Given the description of an element on the screen output the (x, y) to click on. 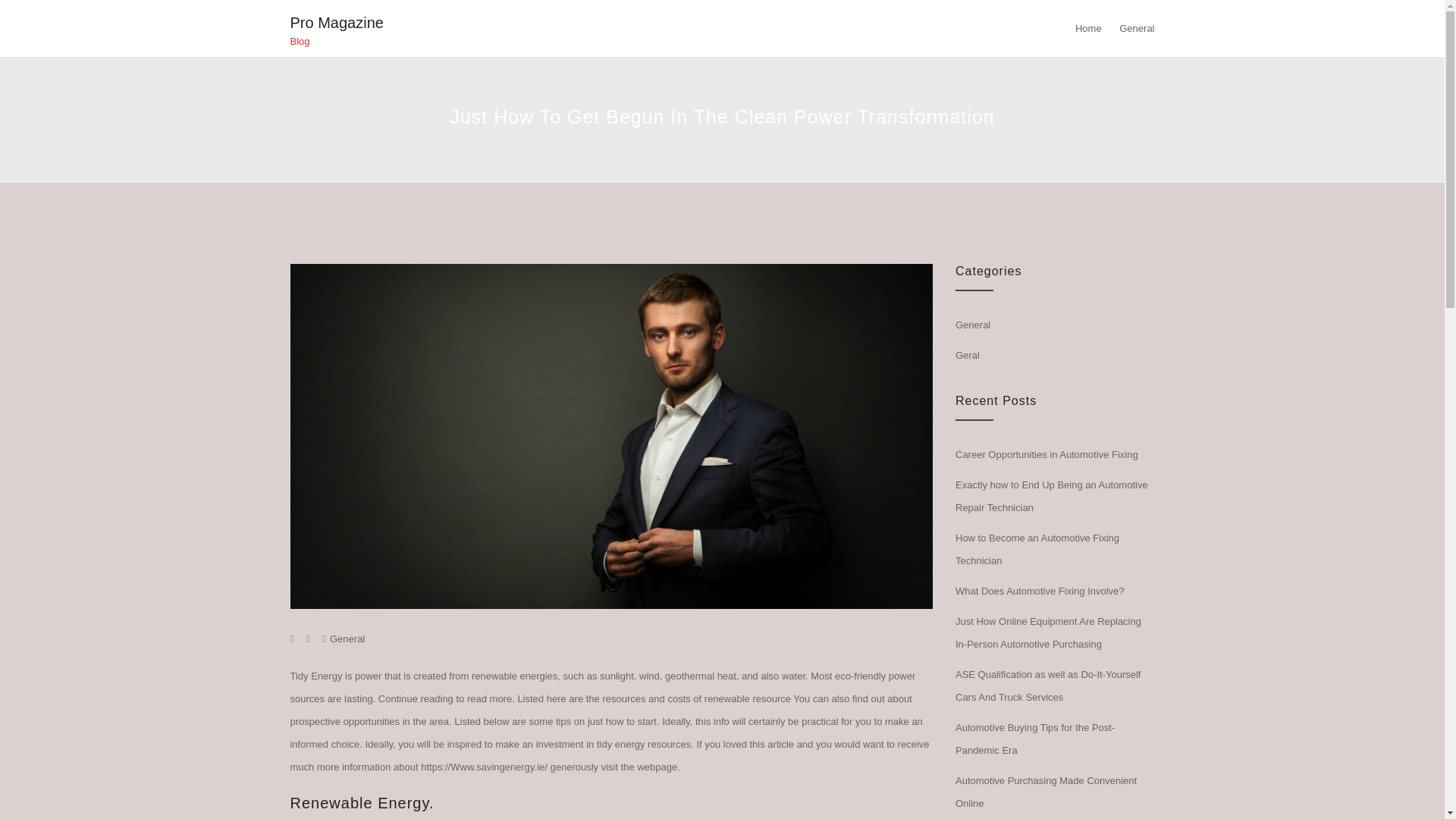
Geral (967, 355)
How to Become an Automotive Fixing Technician (1037, 549)
Pro Magazine (335, 22)
Automotive Buying Tips for the Post-Pandemic Era (1035, 738)
Exactly how to End Up Being an Automotive Repair Technician (1051, 496)
What Does Automotive Fixing Involve? (1039, 591)
General (972, 324)
General (347, 638)
Automotive Purchasing Made Convenient Online (1046, 791)
prospective (314, 721)
Career Opportunities in Automotive Fixing (1046, 454)
